Given the description of an element on the screen output the (x, y) to click on. 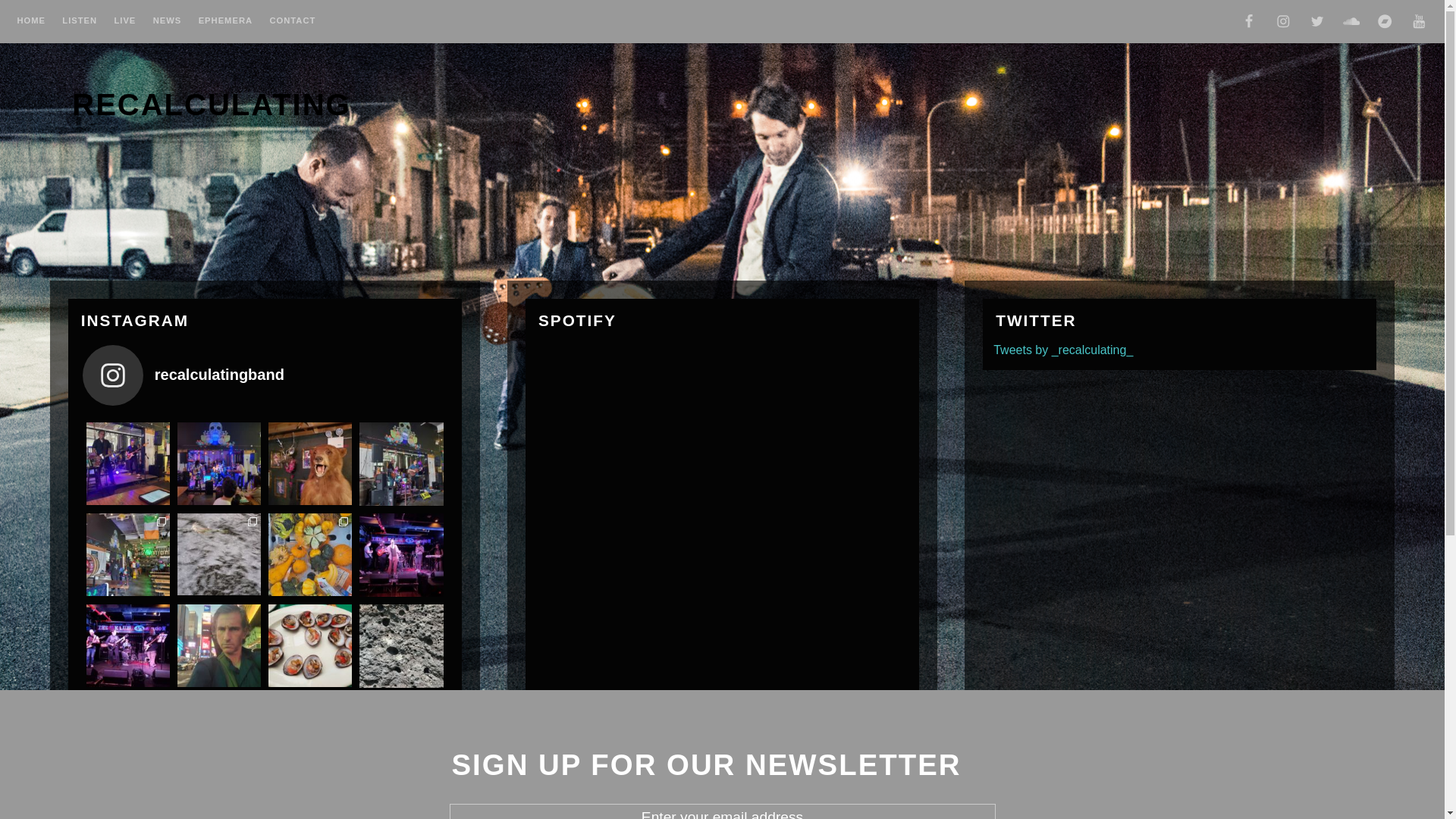
EPHEMERA Element type: text (225, 22)
LISTEN Element type: text (79, 22)
FACEBOOK Element type: text (1248, 23)
Tweets by _recalculating_ Element type: text (1062, 350)
Spotify Embed: All Talk Element type: hover (649, 401)
NEWS Element type: text (167, 22)
CONTACT Element type: text (292, 22)
YOUTUBE Element type: text (1418, 23)
HOME Element type: text (30, 22)
TWITTER Element type: text (1316, 23)
Spotify Embed: Here Is My New Emo Song Element type: hover (649, 676)
Spotify Embed: Starvin' B/W Somebody's Fool Element type: hover (649, 539)
SOUNDCLOUD Element type: text (1351, 23)
INSTAGRAM Element type: text (1282, 23)
BANDCAMP Element type: text (1384, 23)
LIVE Element type: text (124, 22)
recalculatingband Element type: text (264, 376)
